Given the description of an element on the screen output the (x, y) to click on. 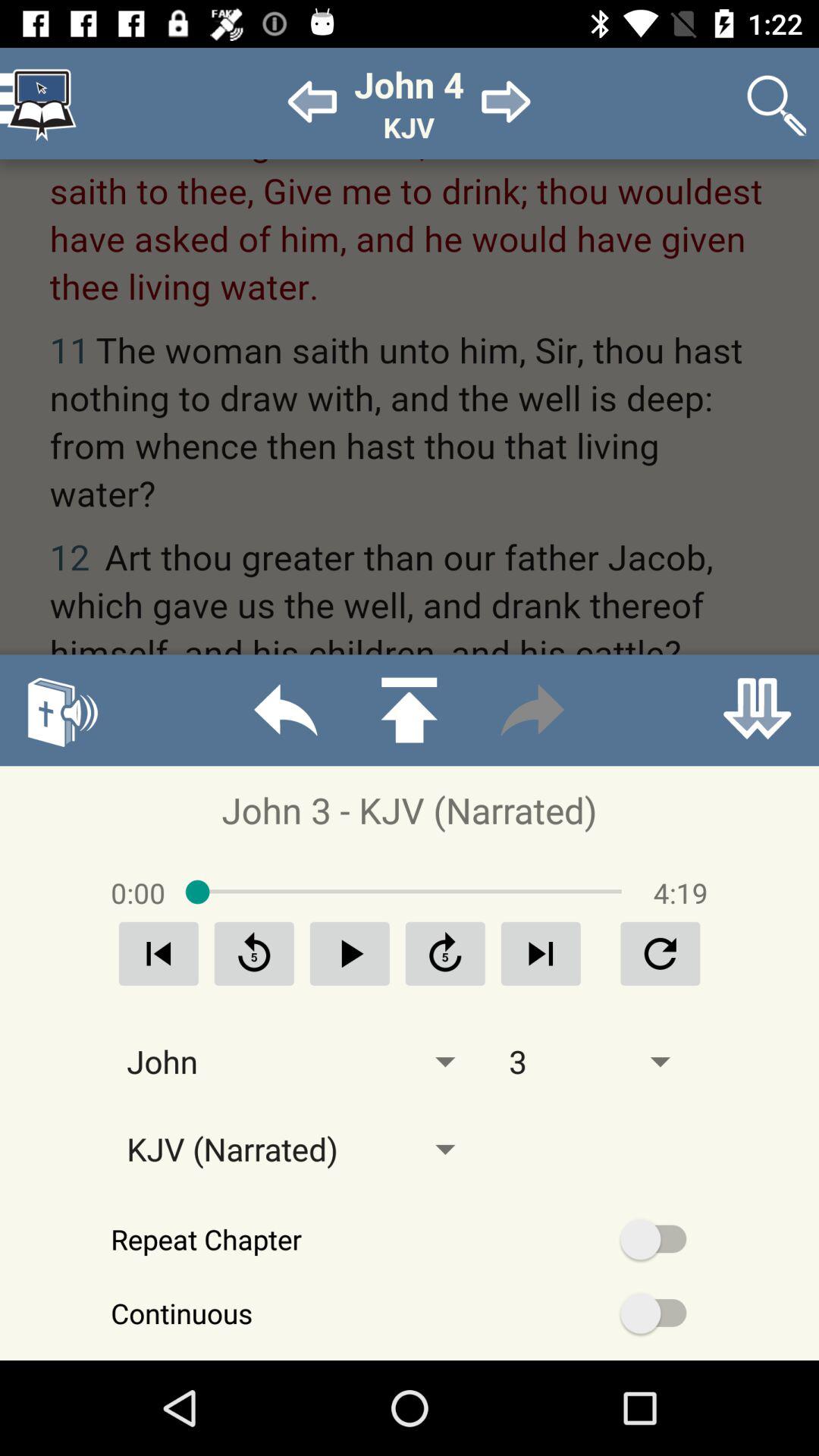
restart song (158, 953)
